Given the description of an element on the screen output the (x, y) to click on. 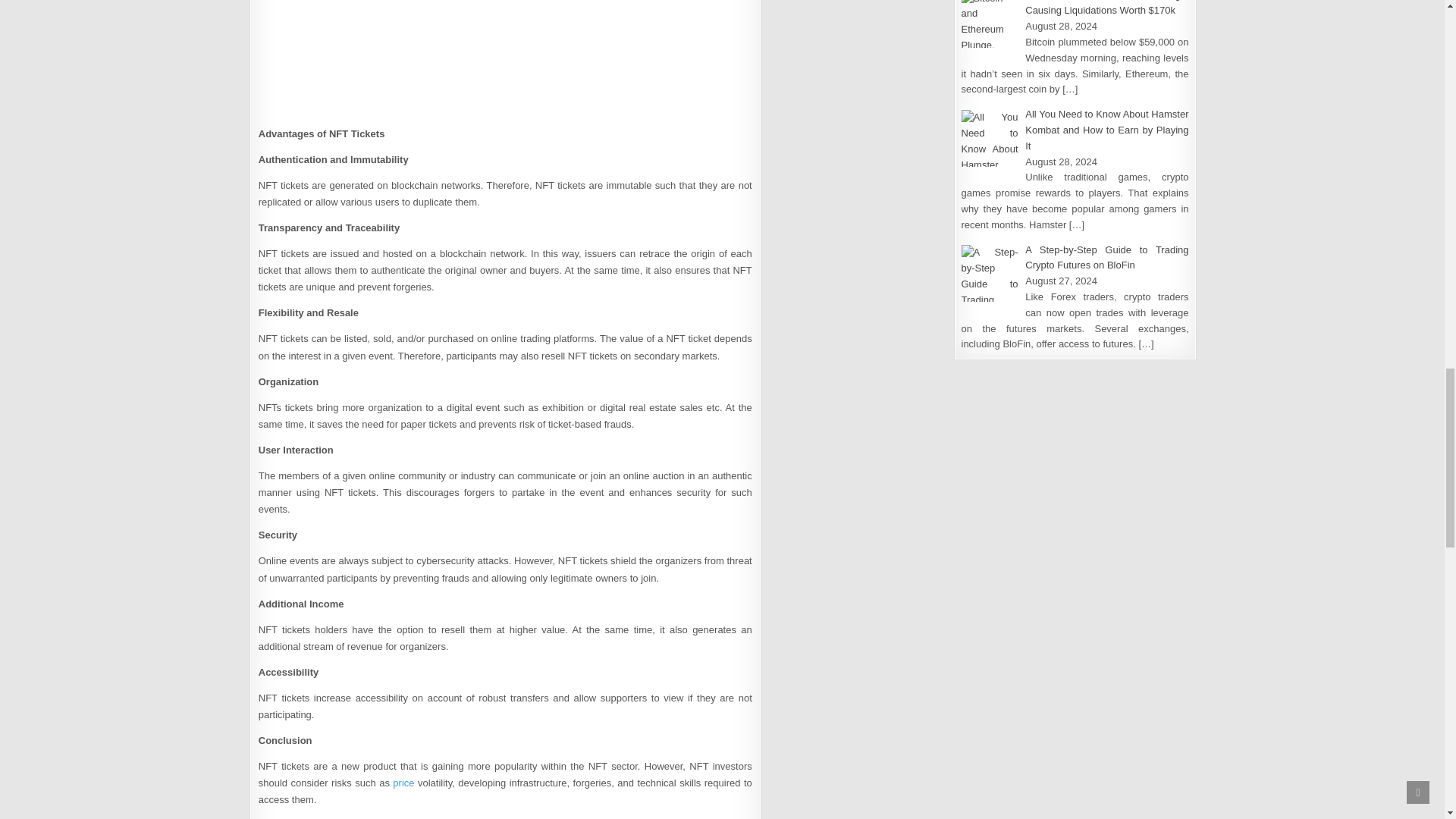
analysis (403, 782)
Cypher Mind HQ (504, 58)
price (403, 782)
